Given the description of an element on the screen output the (x, y) to click on. 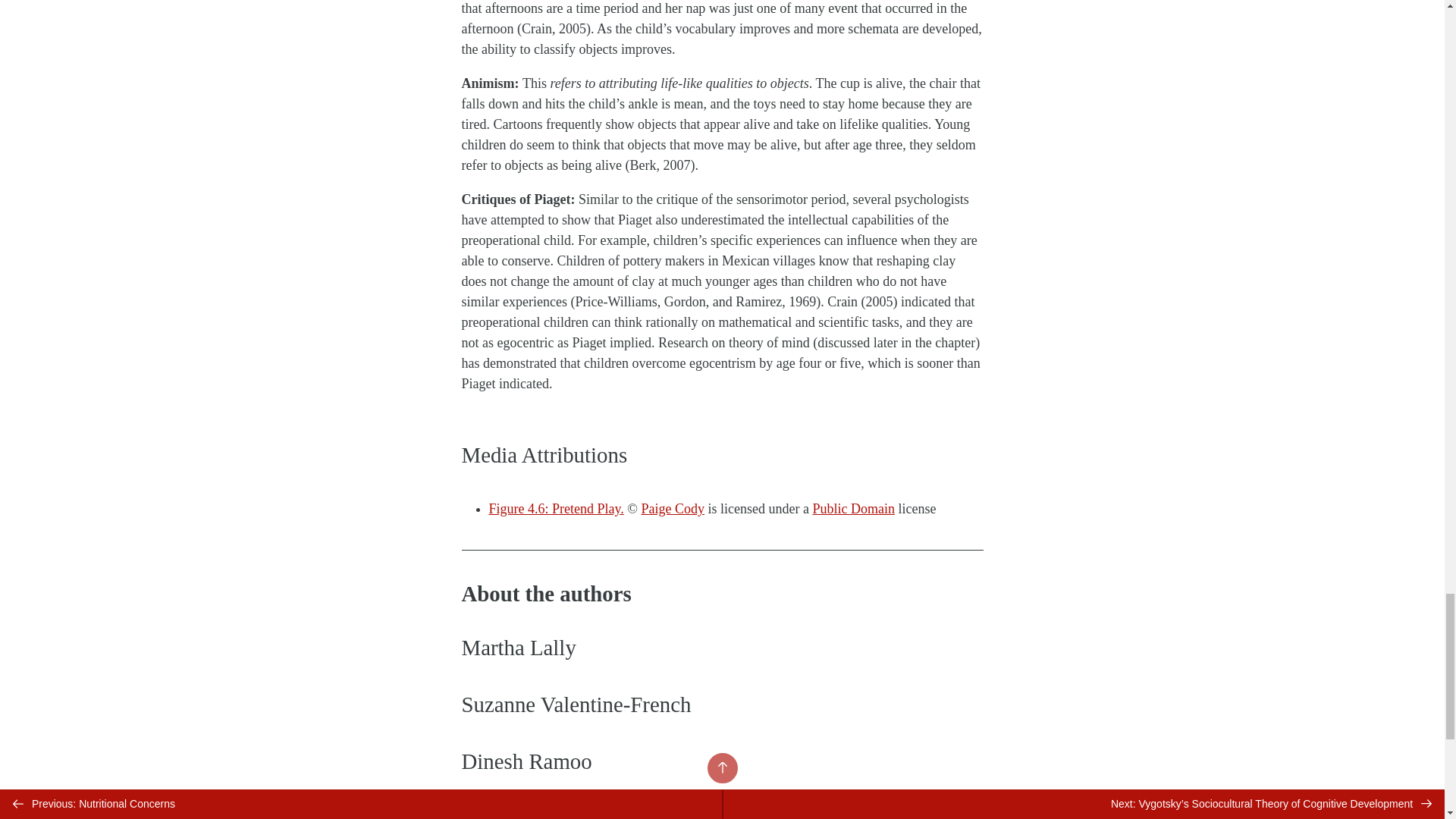
Public Domain (853, 508)
Paige Cody (673, 508)
Figure 4.6: Pretend Play. (555, 508)
